Given the description of an element on the screen output the (x, y) to click on. 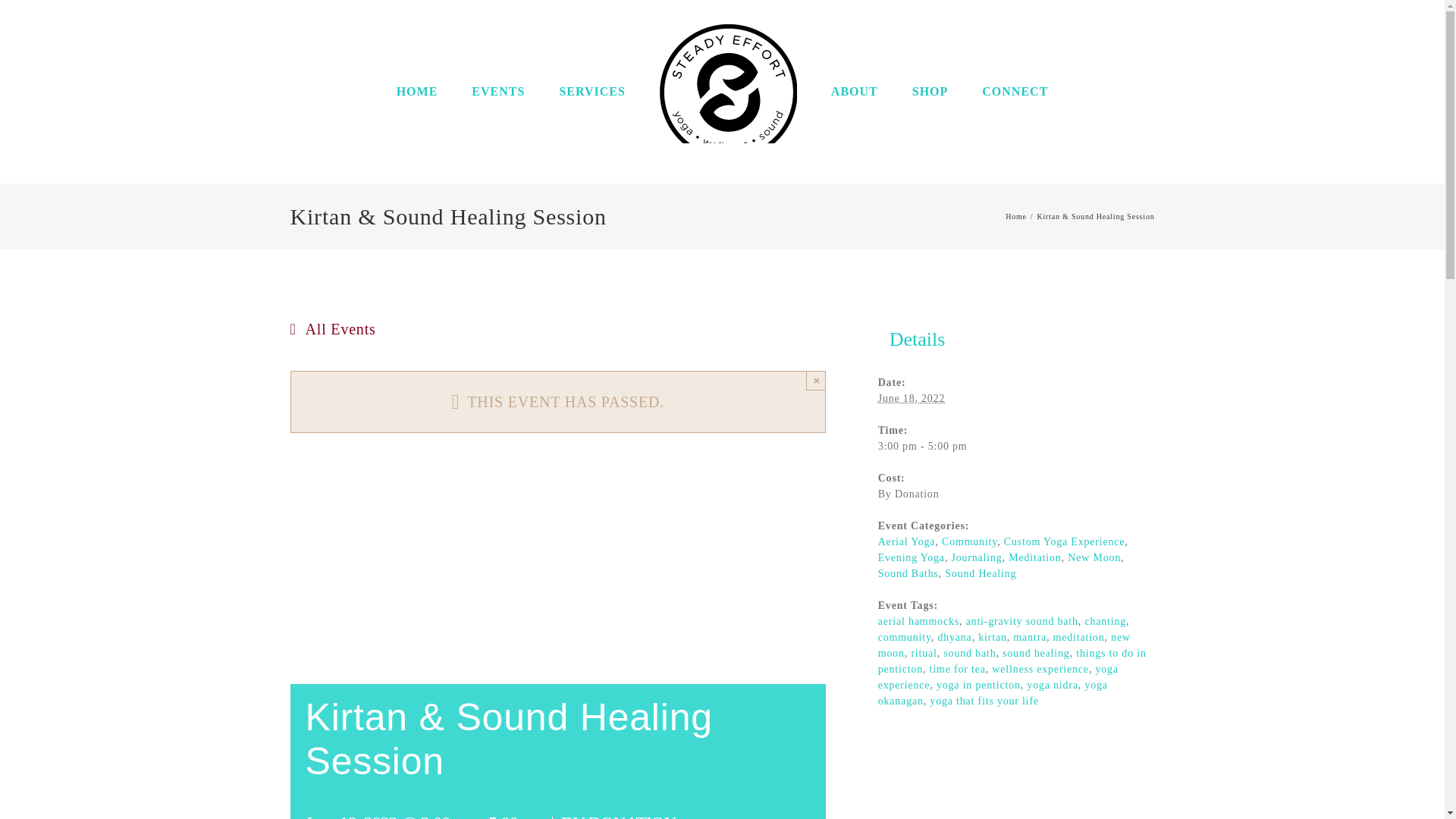
All Events (336, 329)
2022-06-18 (910, 398)
2022-06-18 (1015, 446)
SERVICES (591, 91)
CONNECT (1014, 91)
Home (1016, 216)
